Given the description of an element on the screen output the (x, y) to click on. 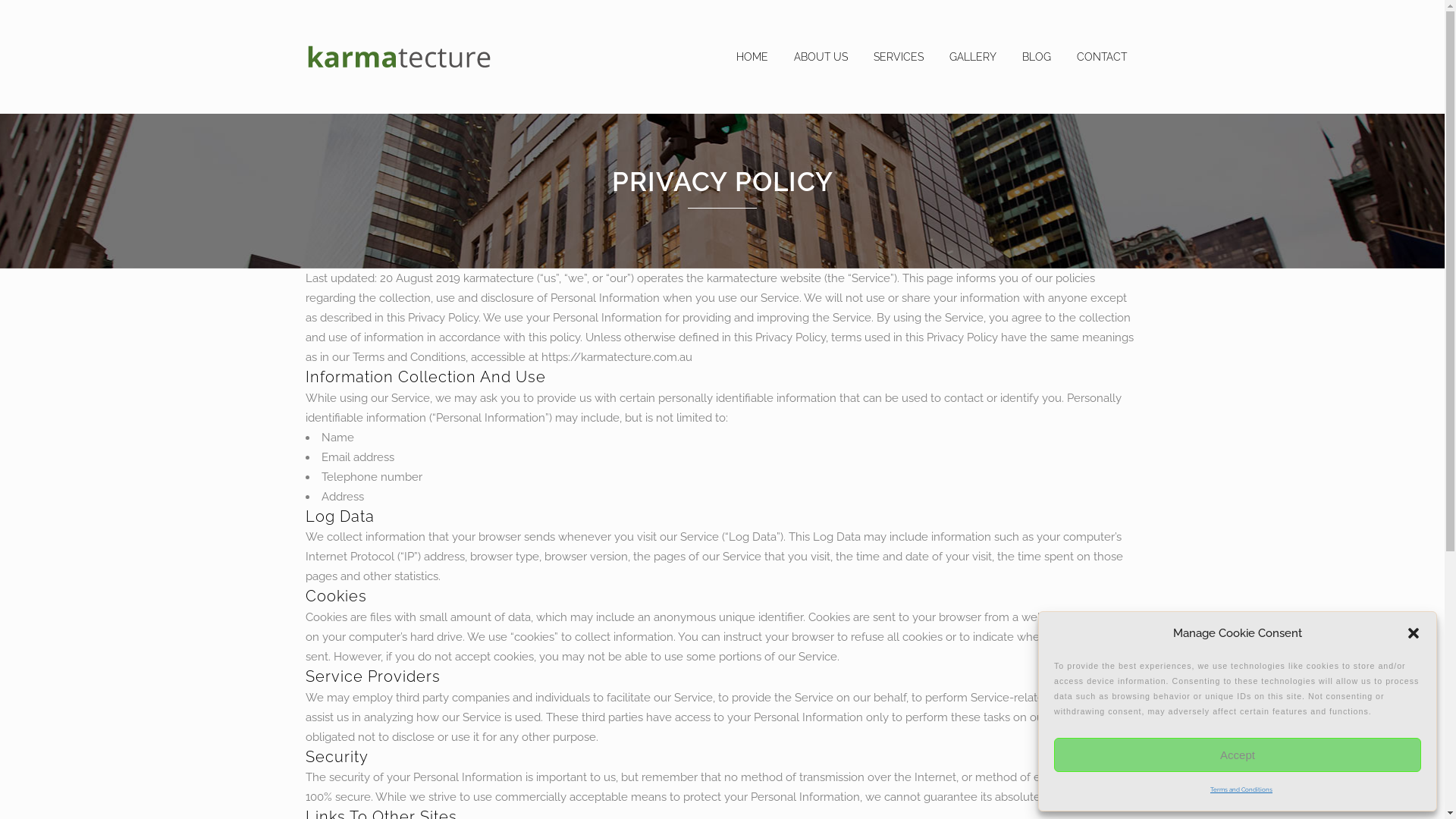
ABOUT US Element type: text (820, 56)
HOME Element type: text (752, 56)
GALLERY Element type: text (971, 56)
BLOG Element type: text (1035, 56)
SERVICES Element type: text (897, 56)
Terms and Conditions Element type: text (1241, 789)
CONTACT Element type: text (1101, 56)
Accept Element type: text (1237, 754)
